Given the description of an element on the screen output the (x, y) to click on. 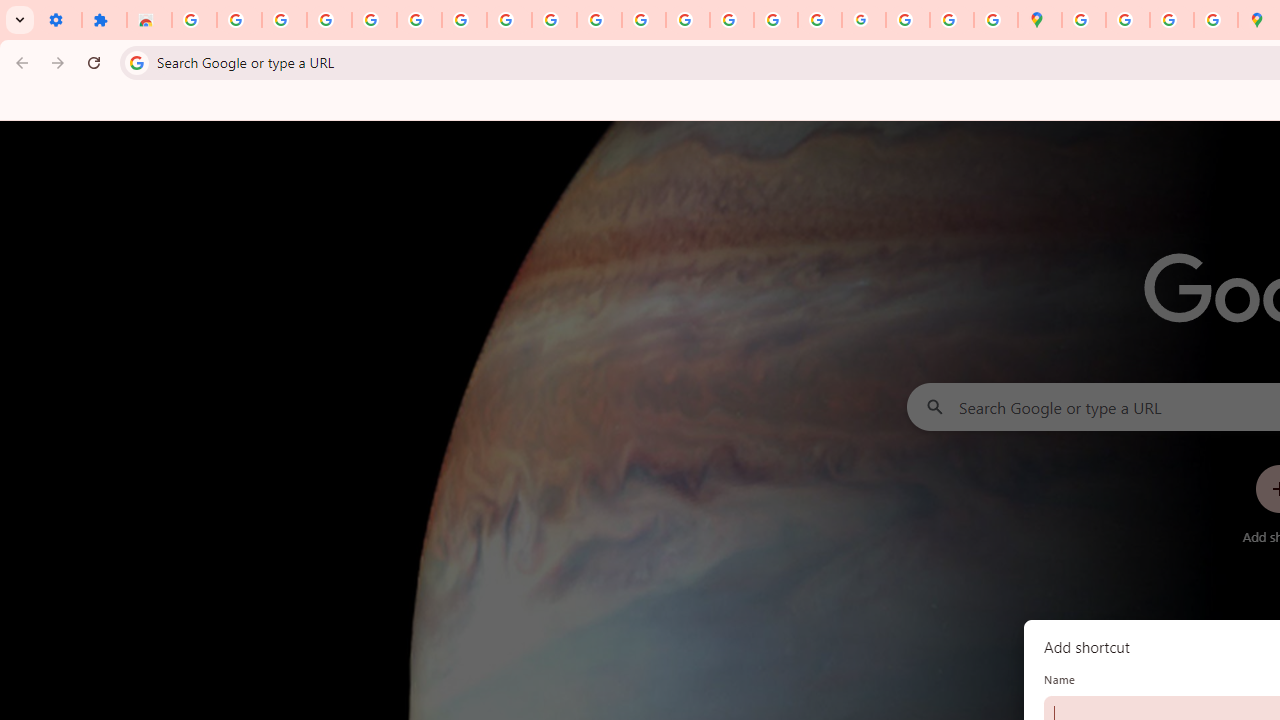
https://scholar.google.com/ (599, 20)
YouTube (509, 20)
